Given the description of an element on the screen output the (x, y) to click on. 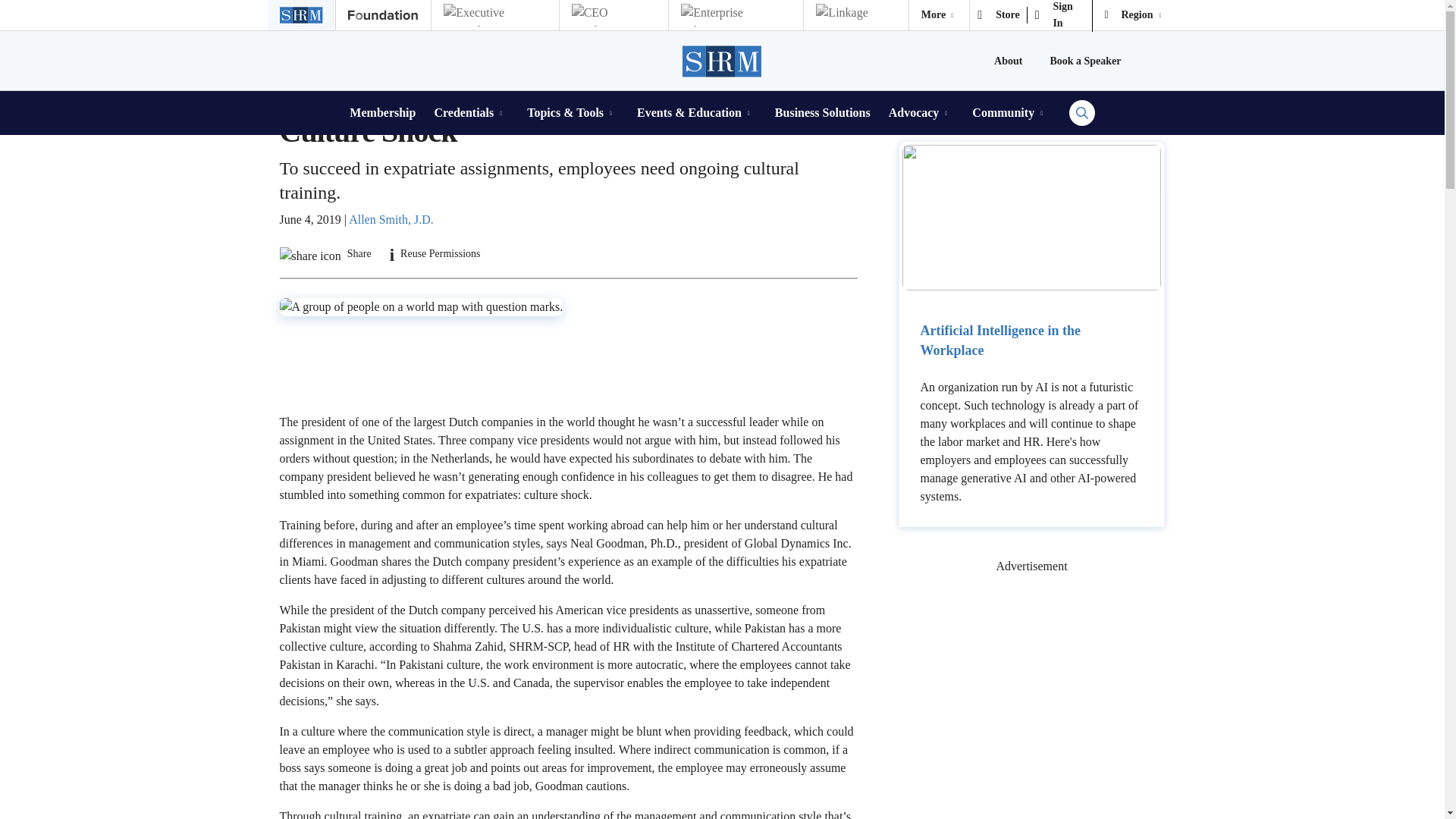
More (938, 15)
Linkage (855, 15)
Region (1134, 15)
About (1008, 61)
language (1134, 15)
sign in (1060, 15)
Book a Speaker (1085, 61)
SHRM (722, 60)
Executive network (493, 15)
Sign In (1060, 15)
